Given the description of an element on the screen output the (x, y) to click on. 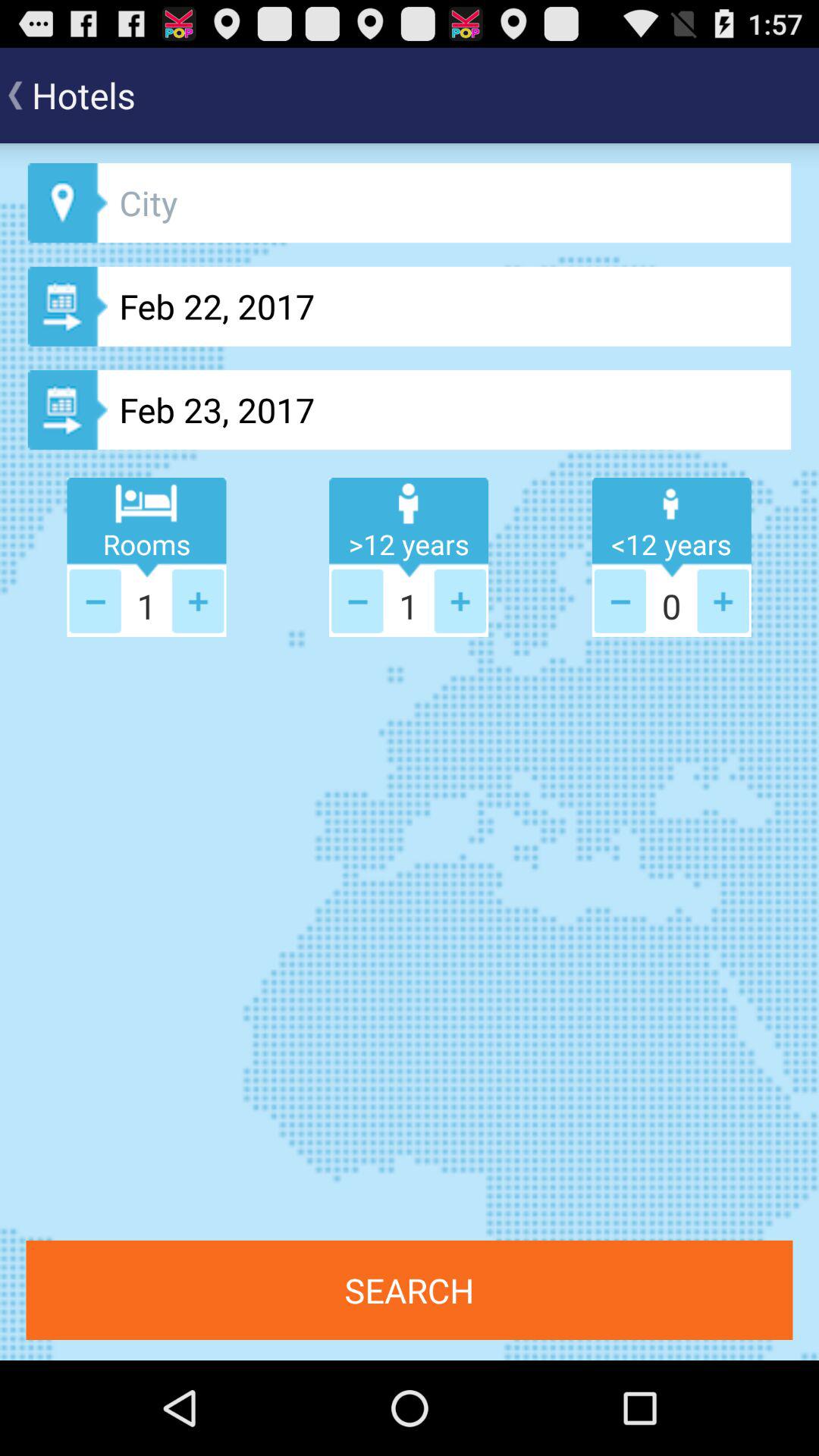
zoom (198, 601)
